Given the description of an element on the screen output the (x, y) to click on. 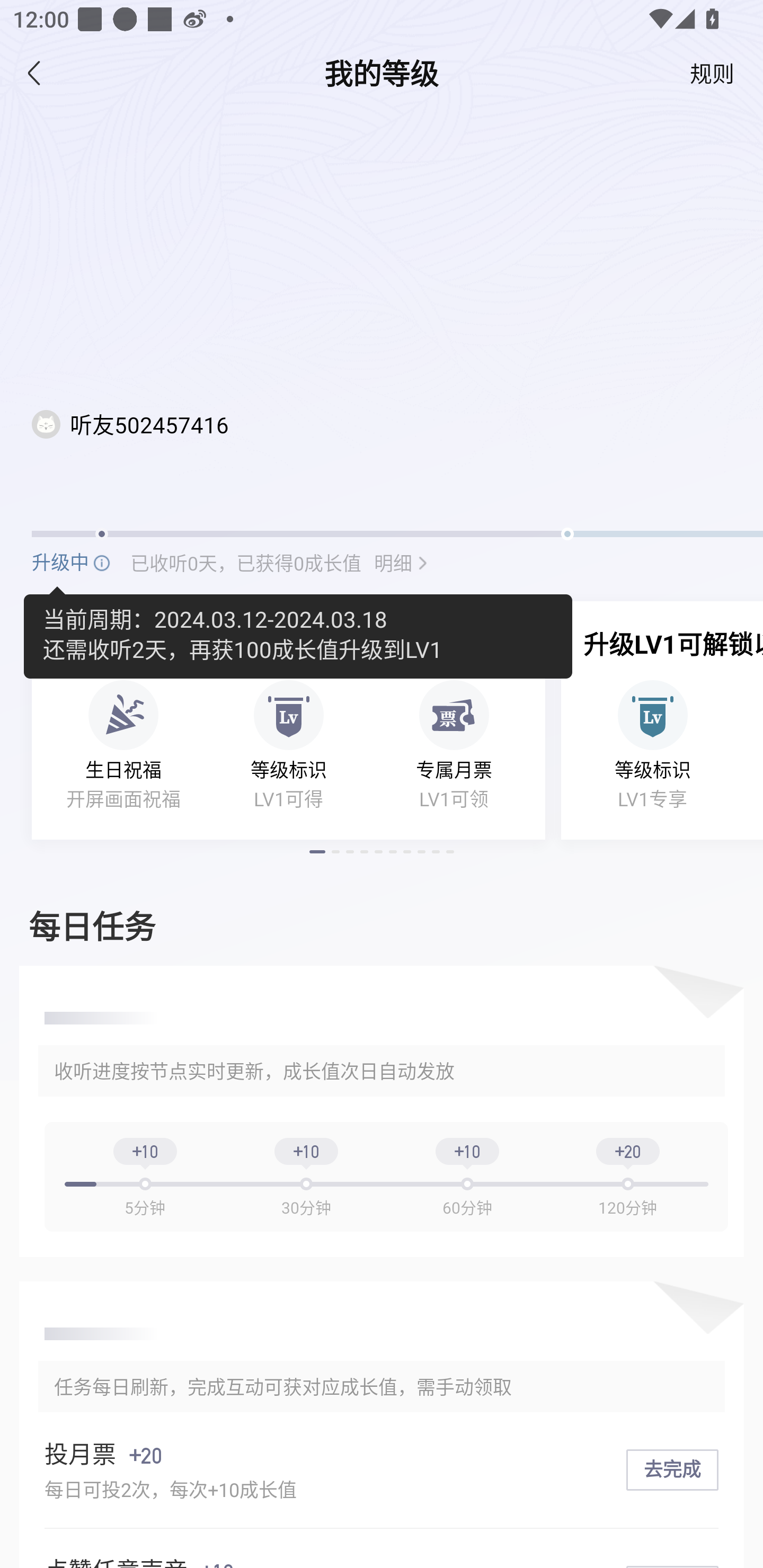
规则 (711, 72)
明细 (396, 562)
升级中 (71, 562)
生日祝福 开屏画面祝福 (123, 746)
等级标识 LV1可得 (287, 746)
专属月票 LV1可领 (453, 746)
等级标识 LV1专享 (651, 746)
去完成 (672, 1469)
